Given the description of an element on the screen output the (x, y) to click on. 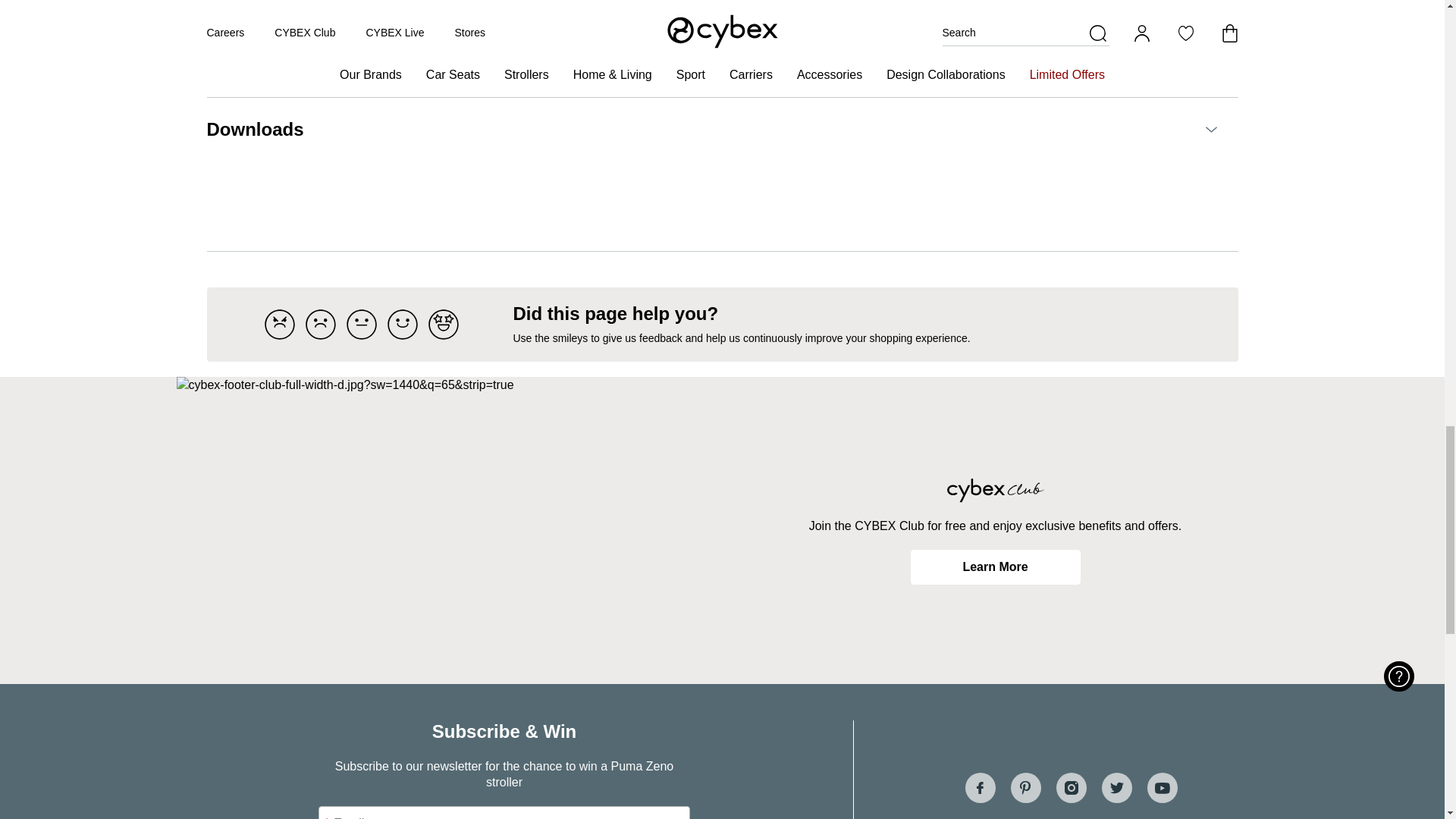
Visit us on Facebook (978, 788)
Visit us on Pinterest (1025, 788)
